Given the description of an element on the screen output the (x, y) to click on. 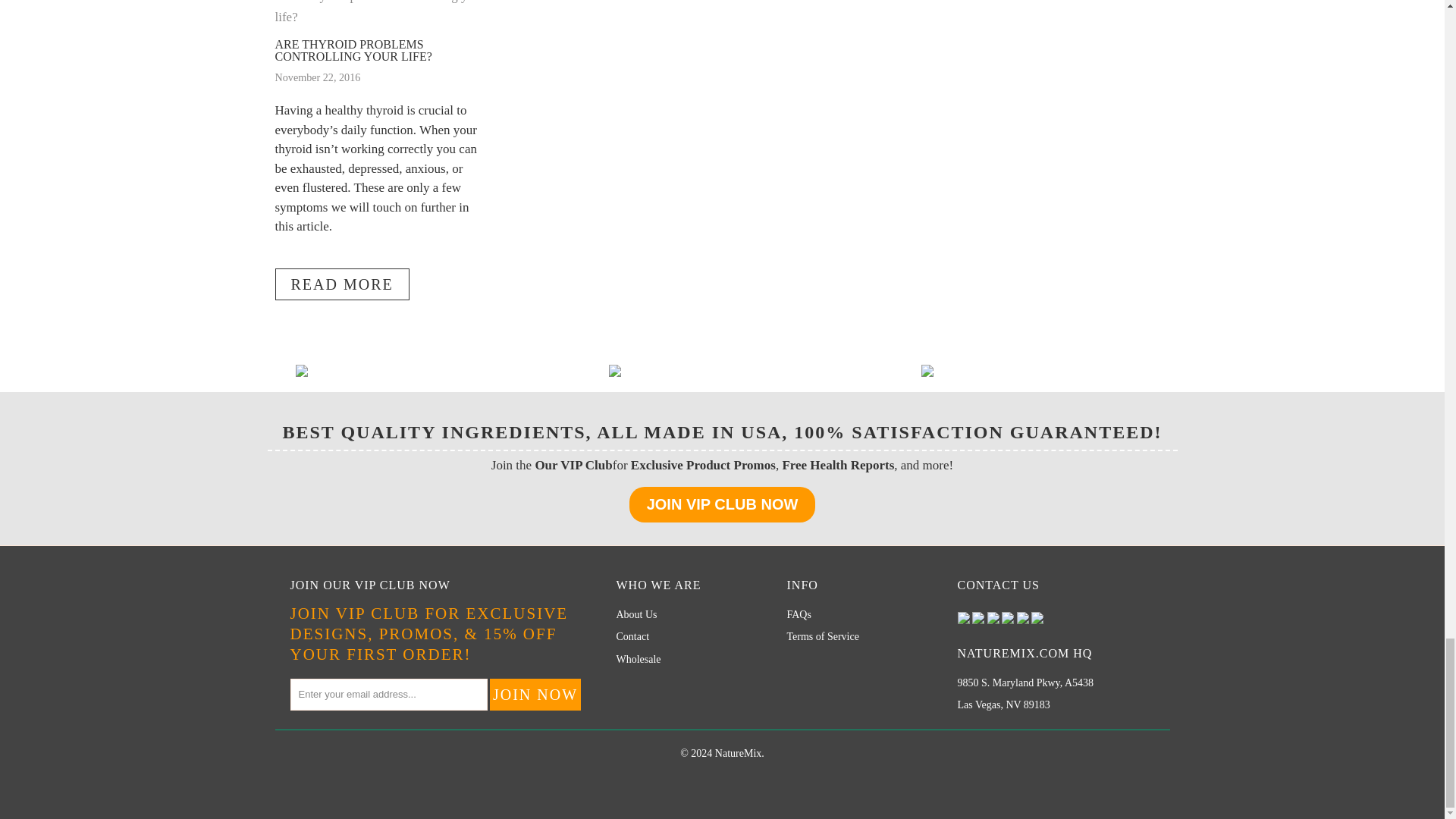
Are thyroid problems controlling your life? (342, 283)
Are thyroid problems controlling your life? (352, 50)
Are thyroid problems controlling your life? (380, 16)
Join Now (534, 694)
